Given the description of an element on the screen output the (x, y) to click on. 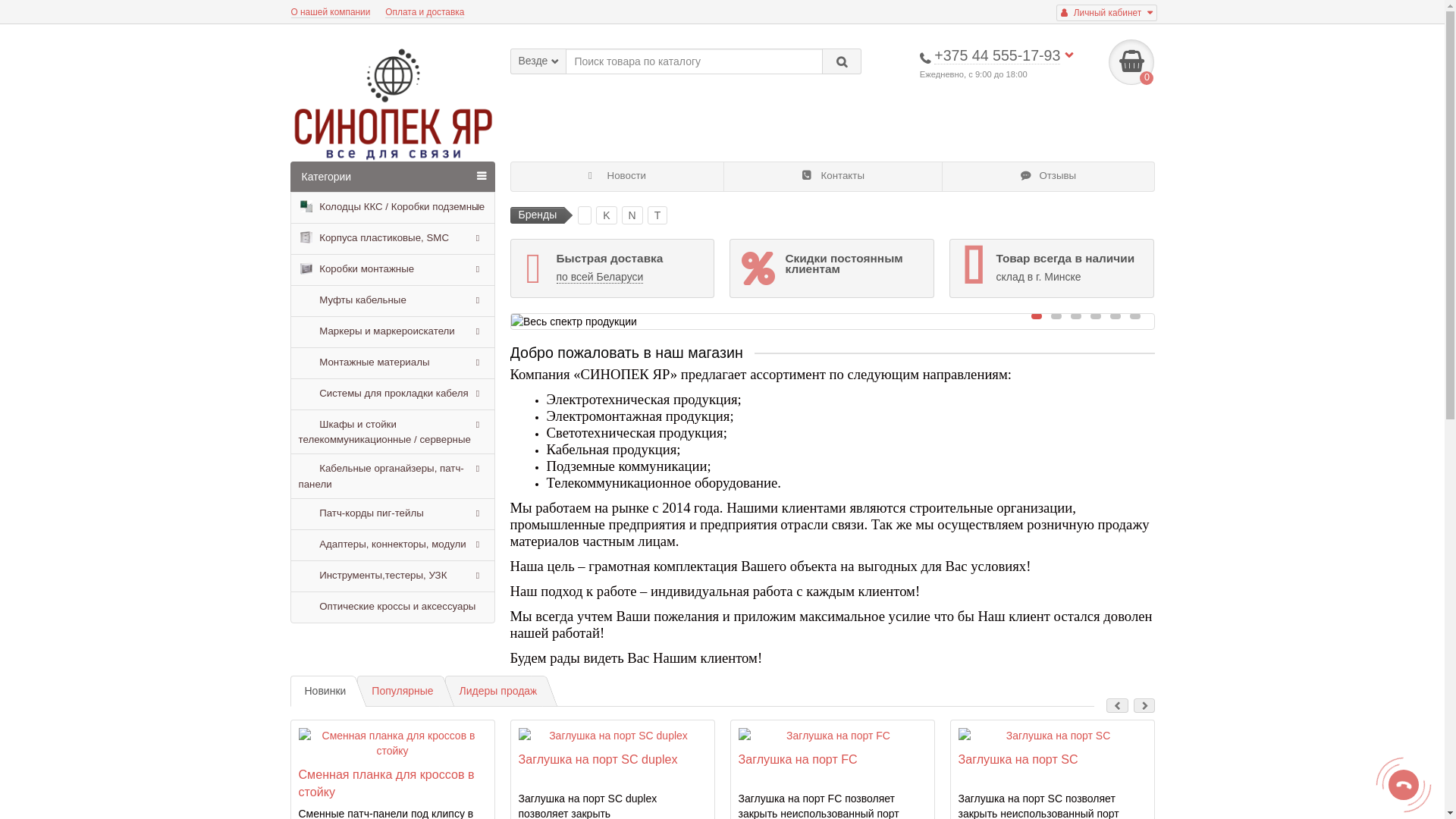
N Element type: text (632, 215)
0 Element type: text (1131, 61)
K Element type: text (606, 215)
T Element type: text (657, 215)
